Given the description of an element on the screen output the (x, y) to click on. 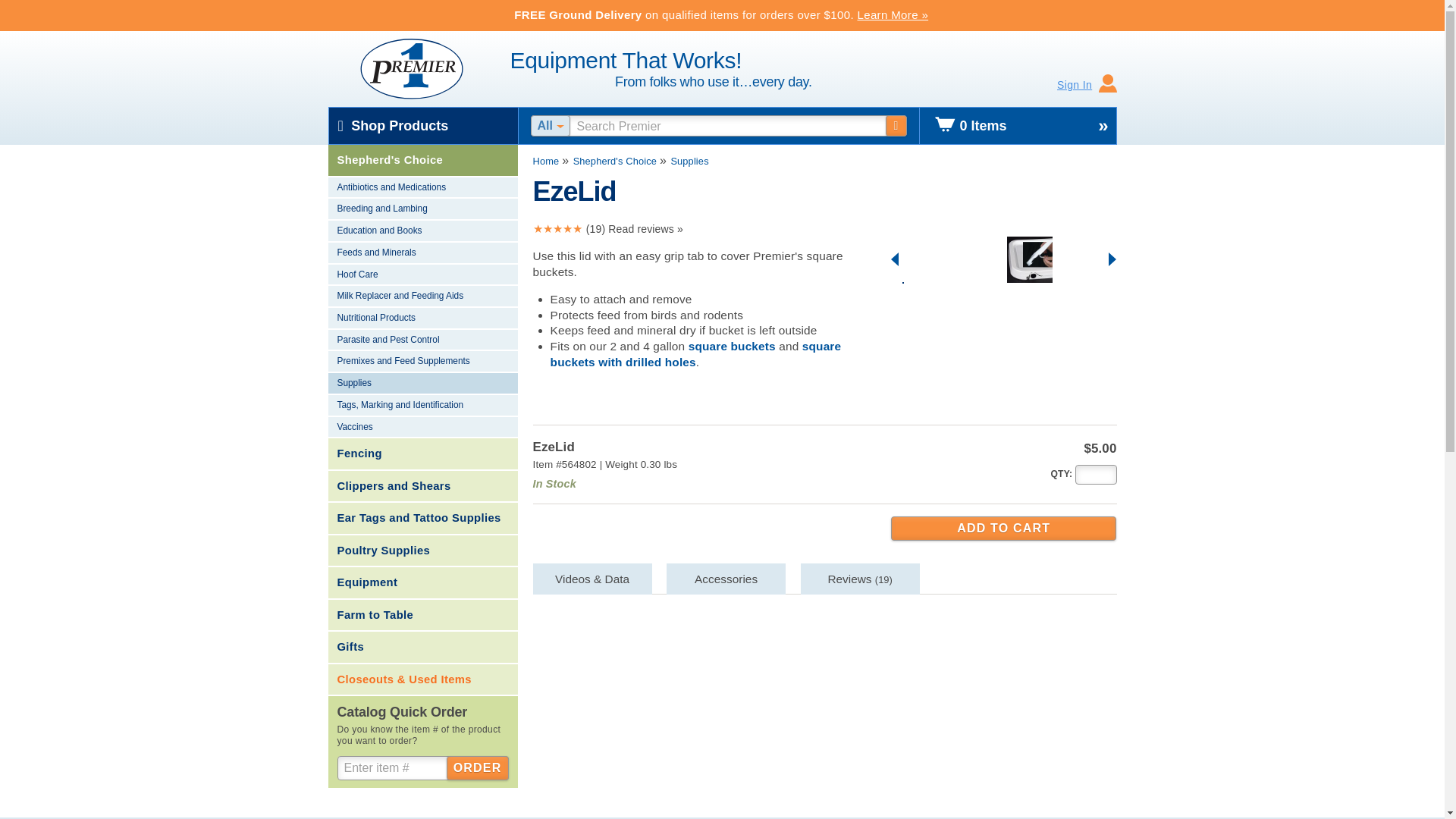
Shop Products (423, 125)
Shepherd's Choice (421, 160)
Feeds and Minerals (421, 253)
Vaccines (421, 427)
Antibiotics and Medications (421, 188)
Hoof Care (421, 275)
Tags, Marking and Identification (421, 405)
quantity (1059, 473)
ORDER (477, 767)
Breeding and Lambing (421, 209)
Click here to search. (896, 125)
Education and Books (421, 231)
Home (545, 161)
Shepherd's Choice (614, 161)
Ear Tags and Tattoo Supplies (421, 518)
